Given the description of an element on the screen output the (x, y) to click on. 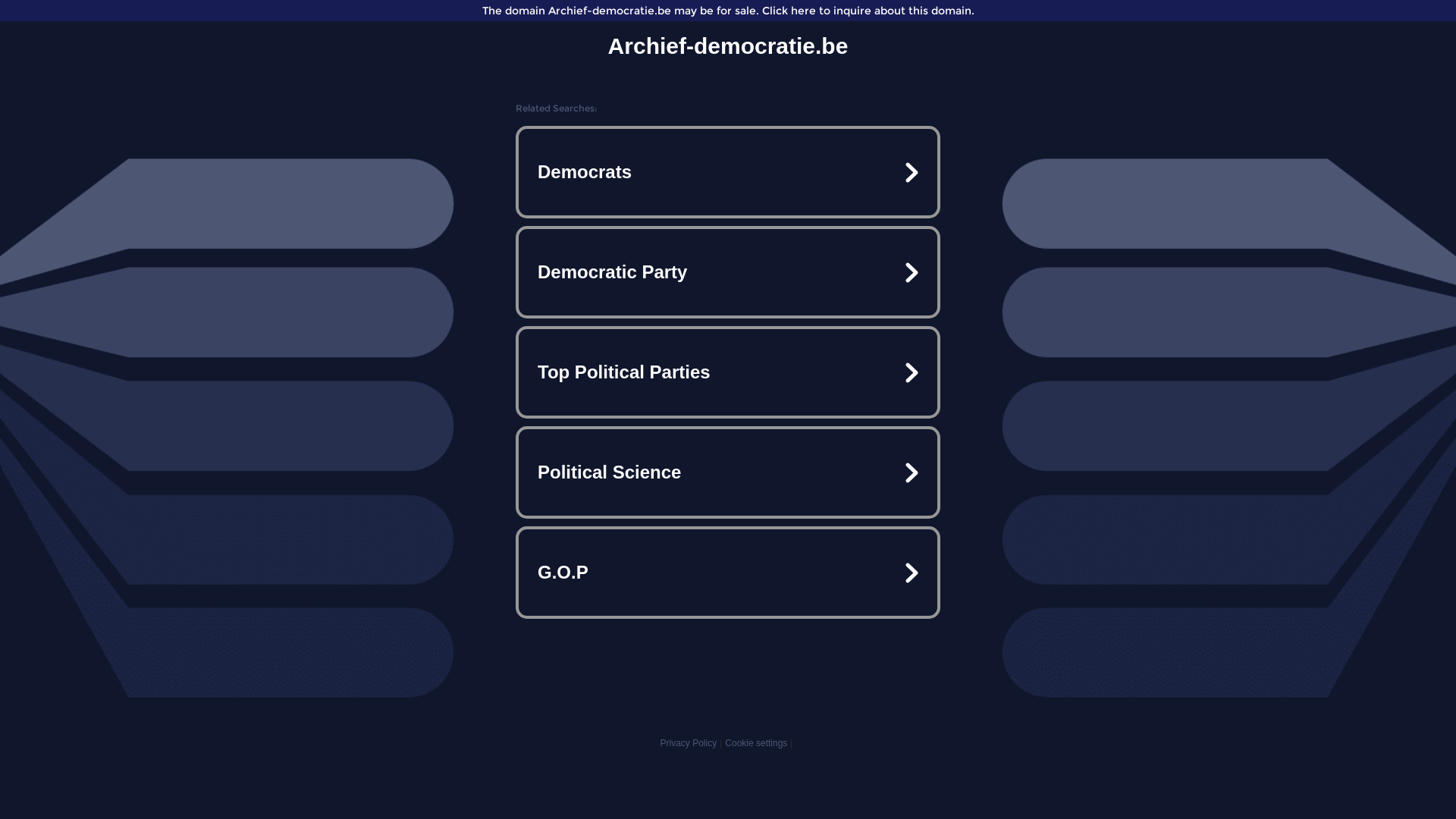
Democrats Element type: text (727, 171)
G.O.P Element type: text (727, 572)
Top Political Parties Element type: text (727, 372)
Privacy Policy Element type: text (687, 742)
Cookie settings Element type: text (755, 742)
Archief-democratie.be Element type: text (728, 46)
Political Science Element type: text (727, 472)
Democratic Party Element type: text (727, 272)
